Given the description of an element on the screen output the (x, y) to click on. 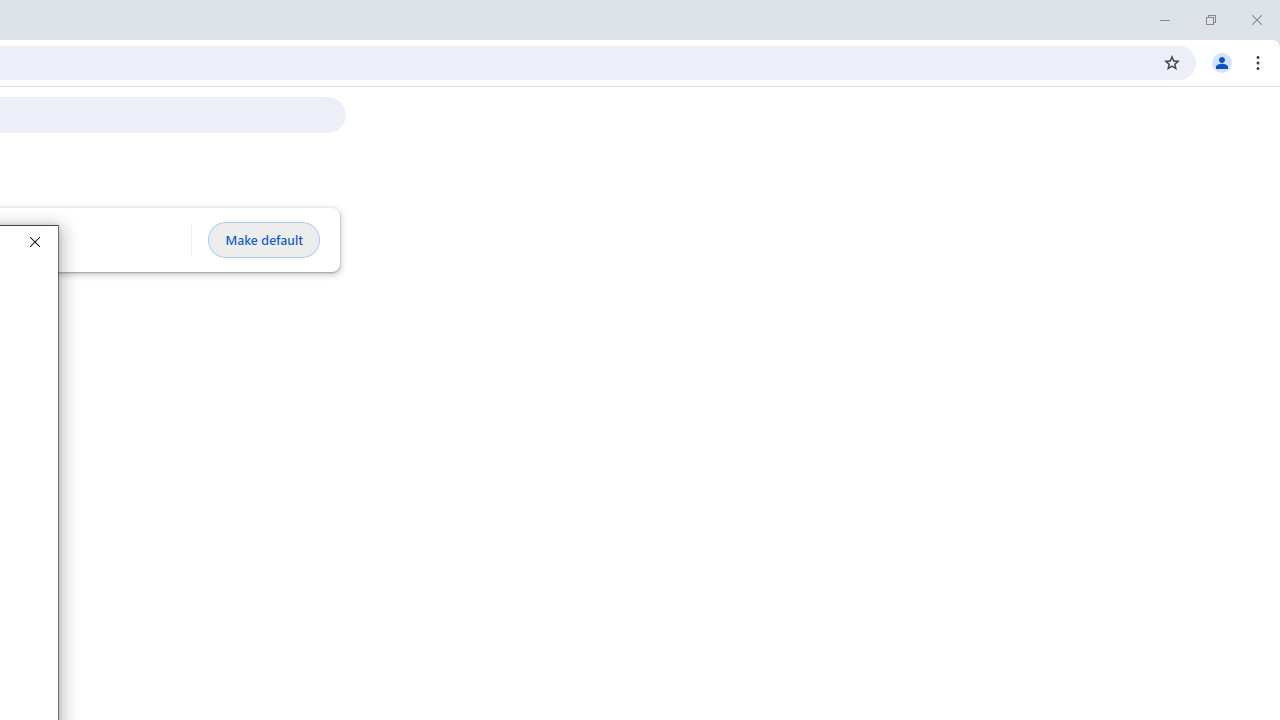
Make default (263, 240)
Close Settings (34, 241)
